Given the description of an element on the screen output the (x, y) to click on. 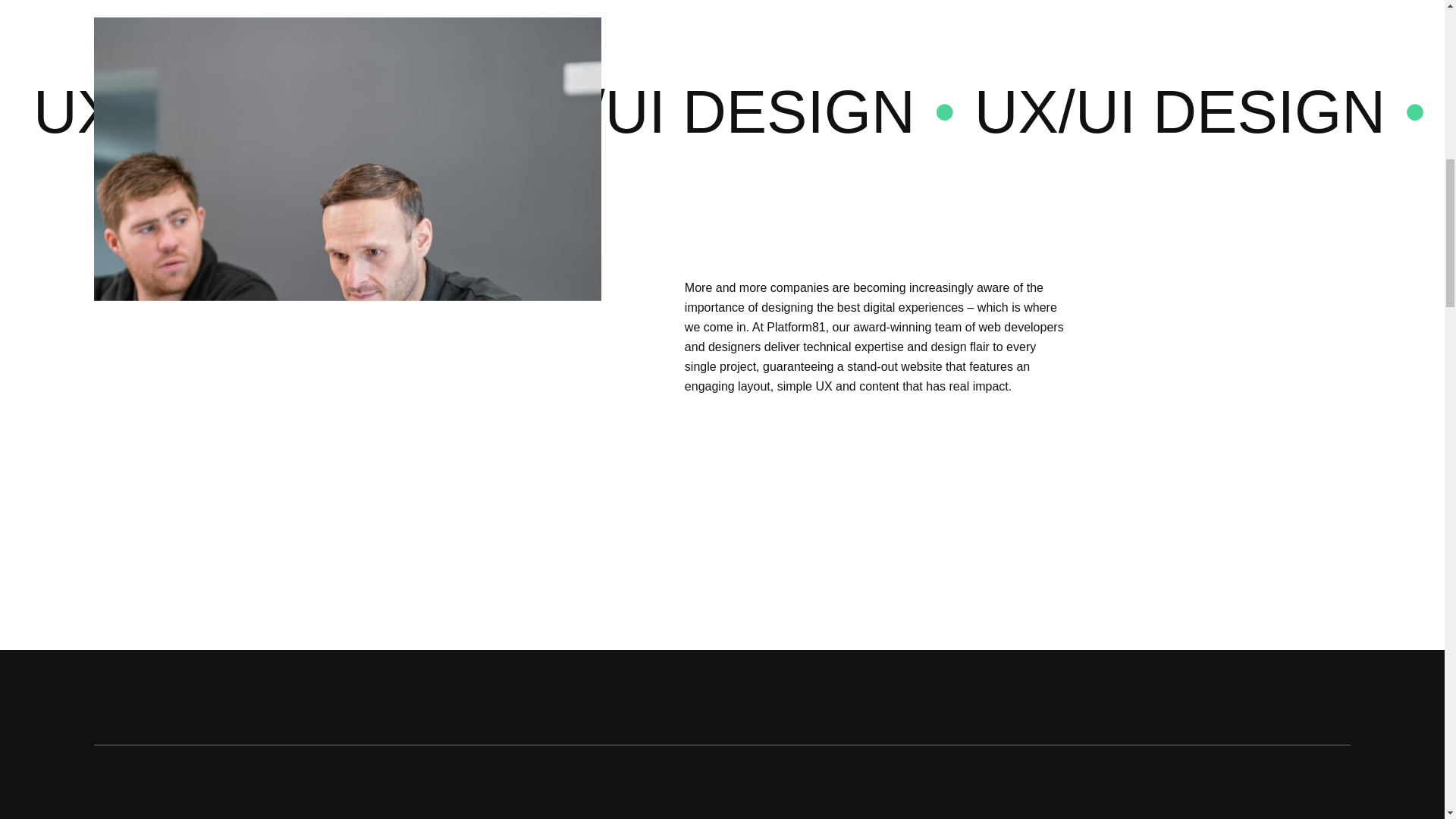
01225 231 014 (688, 42)
GDPR STATEMENT (135, 267)
01527 962 181 (436, 42)
PRIVACY POLICY (359, 267)
0161 850 2381 (134, 42)
